Given the description of an element on the screen output the (x, y) to click on. 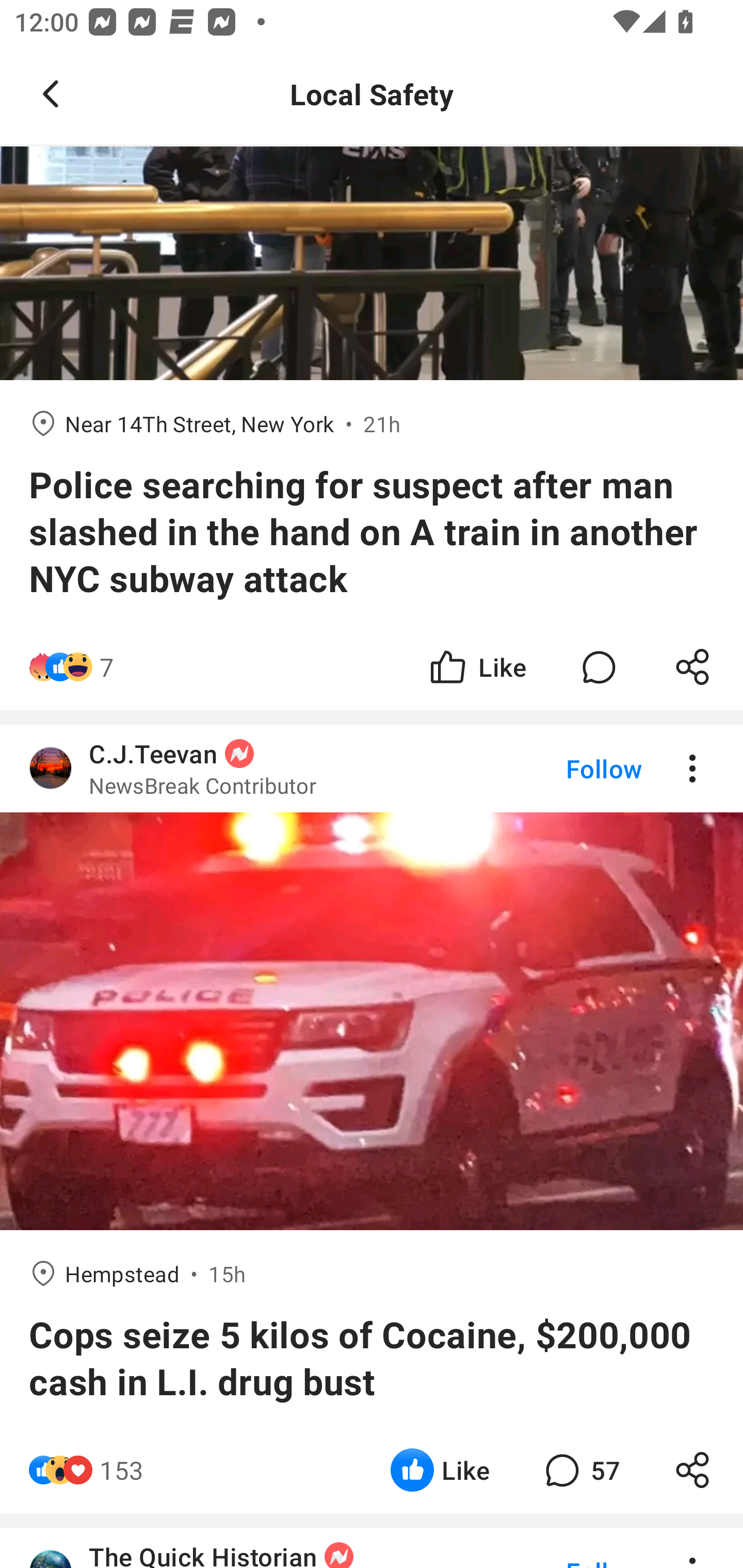
Navigate up (50, 93)
7 (106, 667)
Like (476, 667)
C.J.Teevan NewsBreak Contributor Follow (371, 768)
Follow (569, 768)
153 (121, 1469)
Like (439, 1469)
57 (579, 1469)
